Given the description of an element on the screen output the (x, y) to click on. 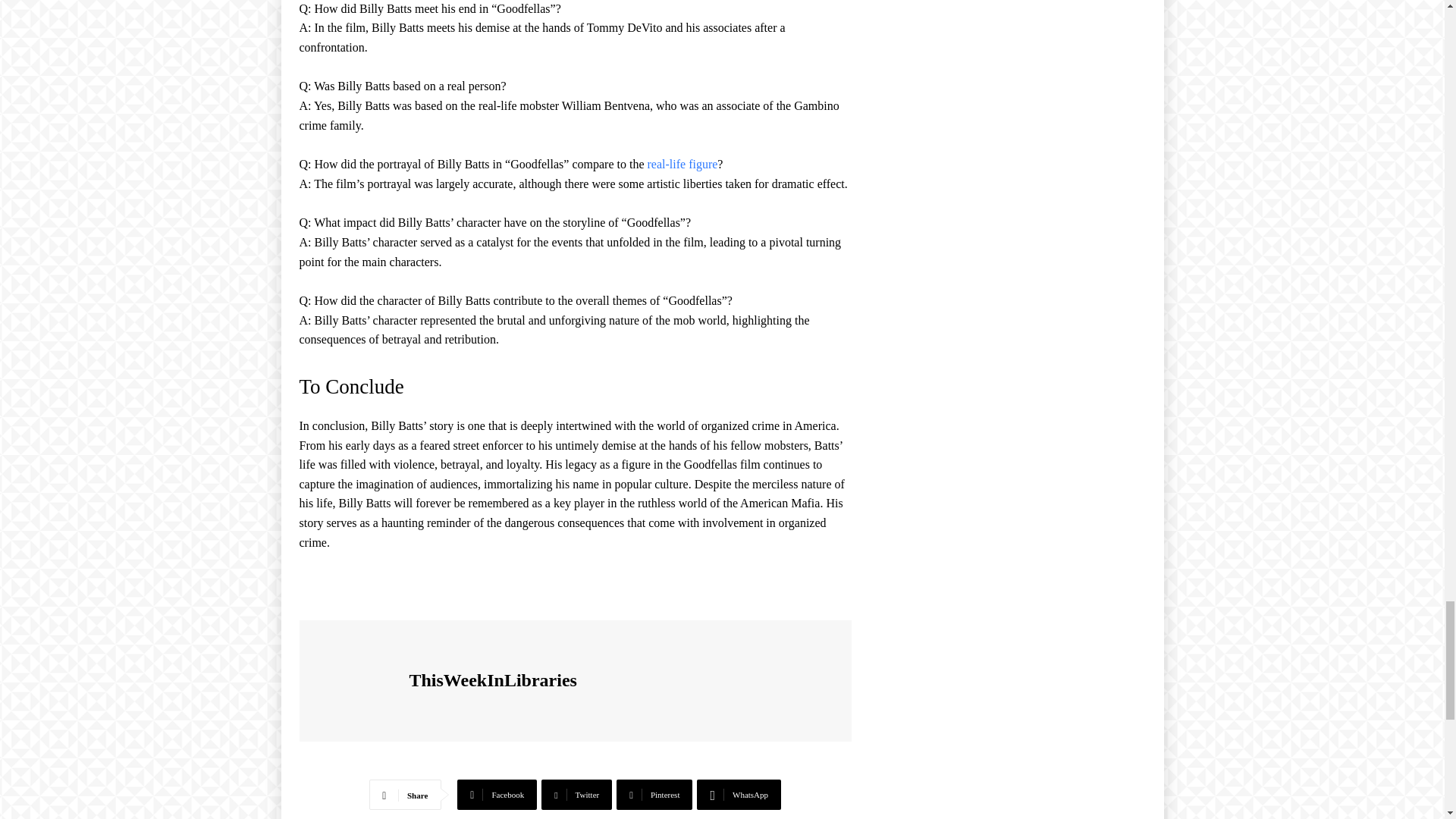
Twitter (576, 794)
Facebook (497, 794)
ThisWeekInLibraries (356, 680)
